Given the description of an element on the screen output the (x, y) to click on. 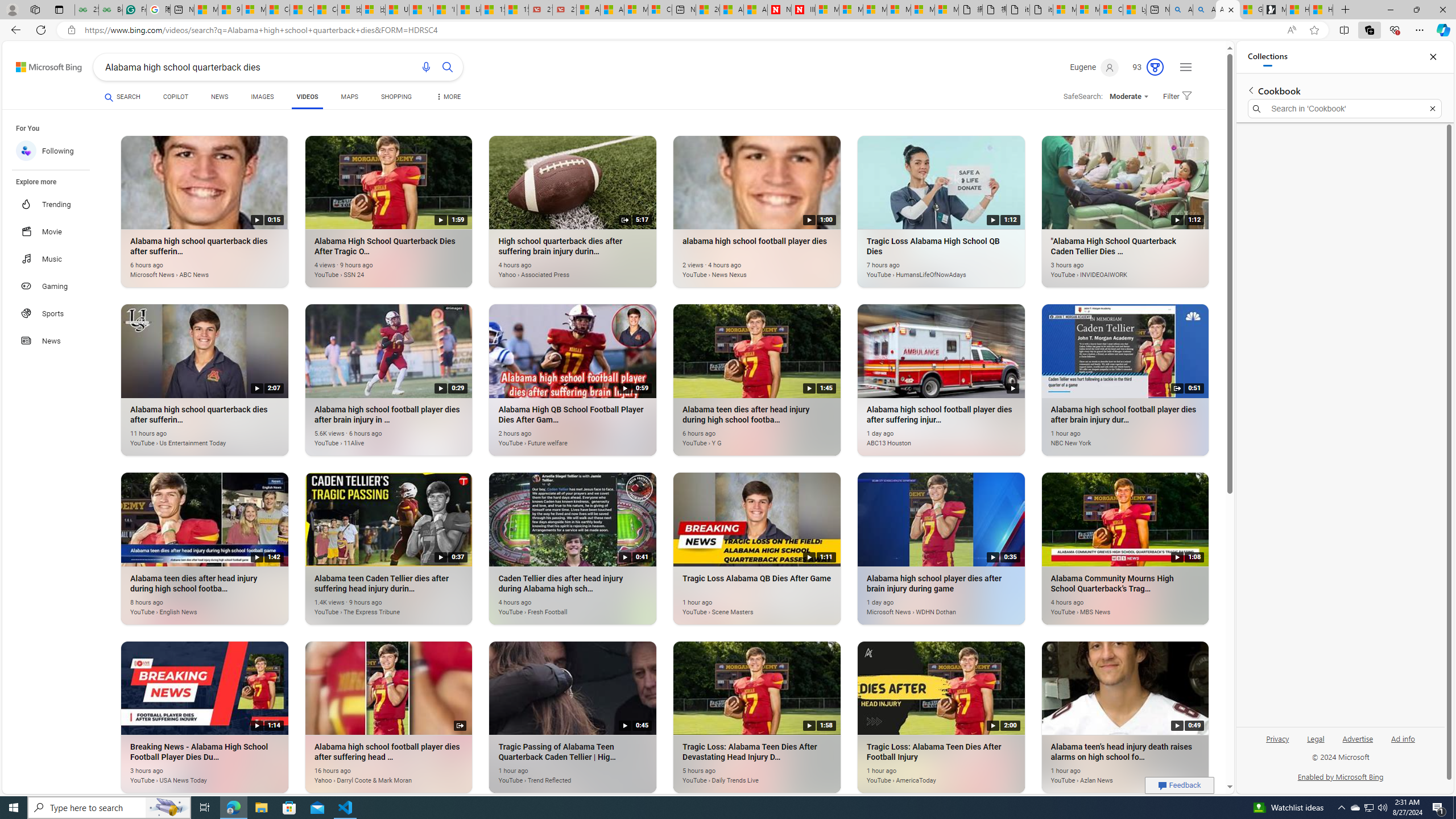
Lifestyle - MSN (469, 9)
SHOPPING (395, 98)
SEARCH (122, 96)
25 Basic Linux Commands For Beginners - GeeksforGeeks (86, 9)
